Given the description of an element on the screen output the (x, y) to click on. 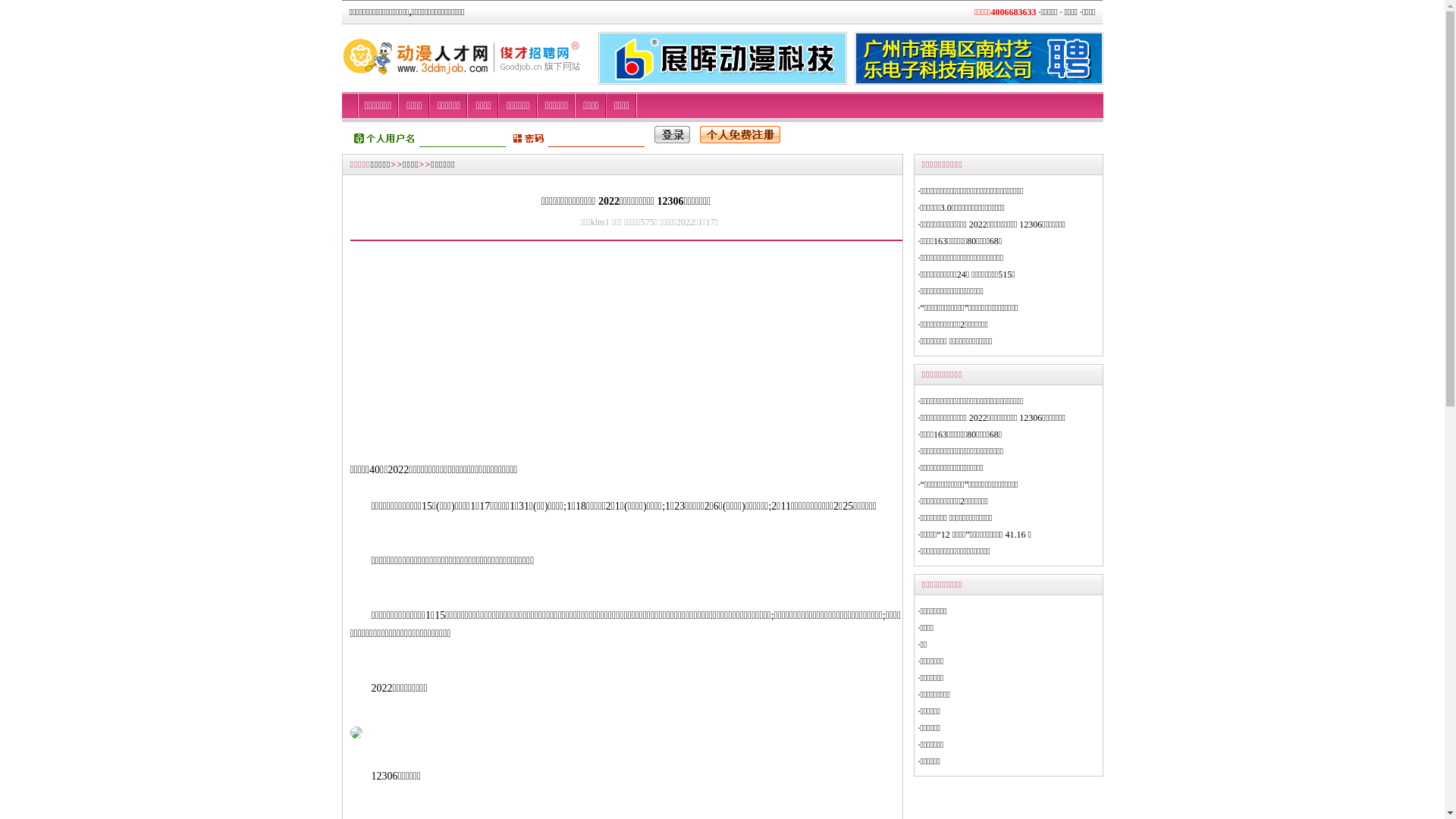
Advertisement Element type: hover (477, 354)
Advertisement Element type: hover (735, 354)
